Given the description of an element on the screen output the (x, y) to click on. 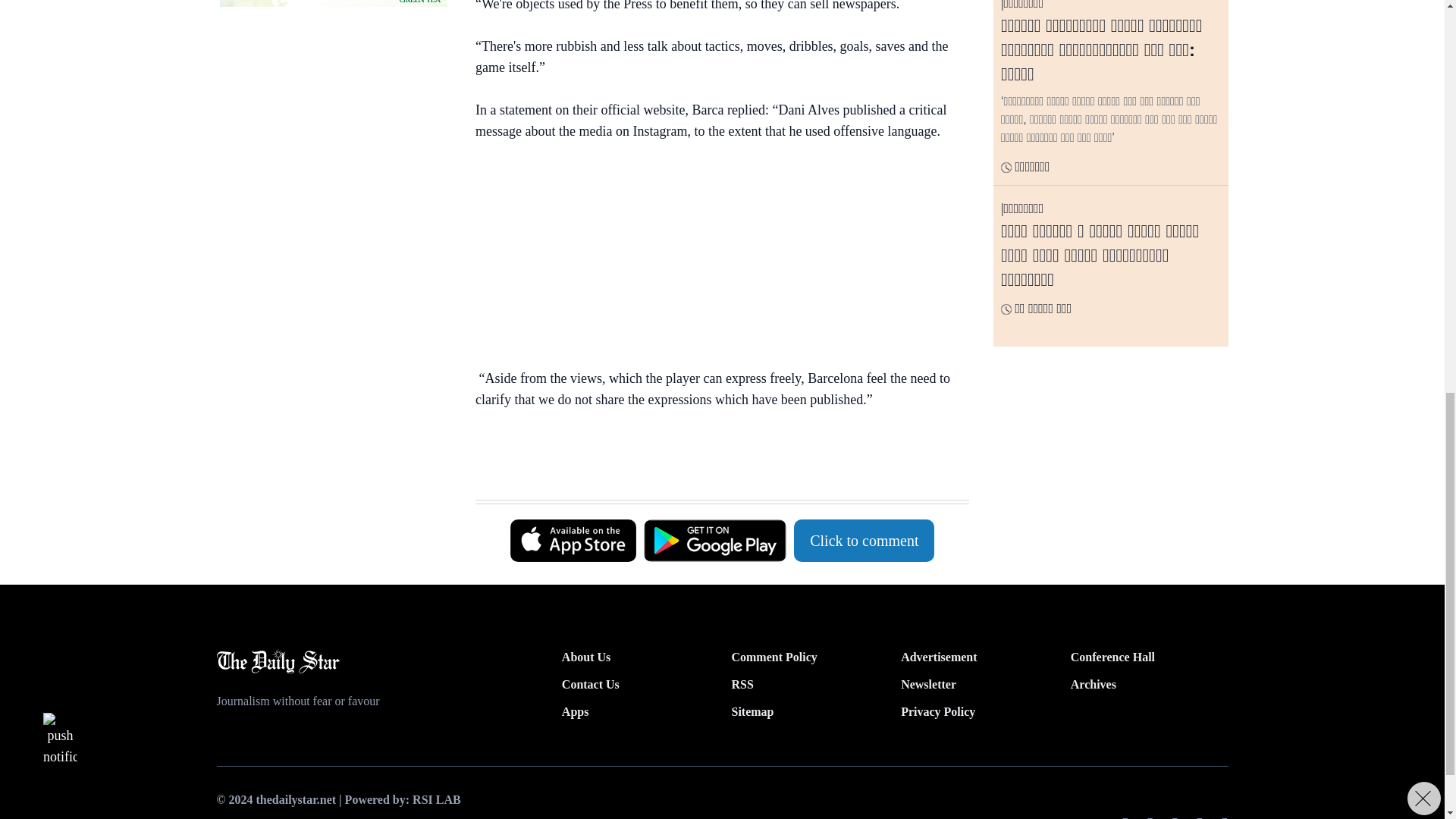
3rd party ad content (332, 3)
3rd party ad content (713, 257)
3rd party ad content (714, 461)
3rd party ad content (332, 116)
